Given the description of an element on the screen output the (x, y) to click on. 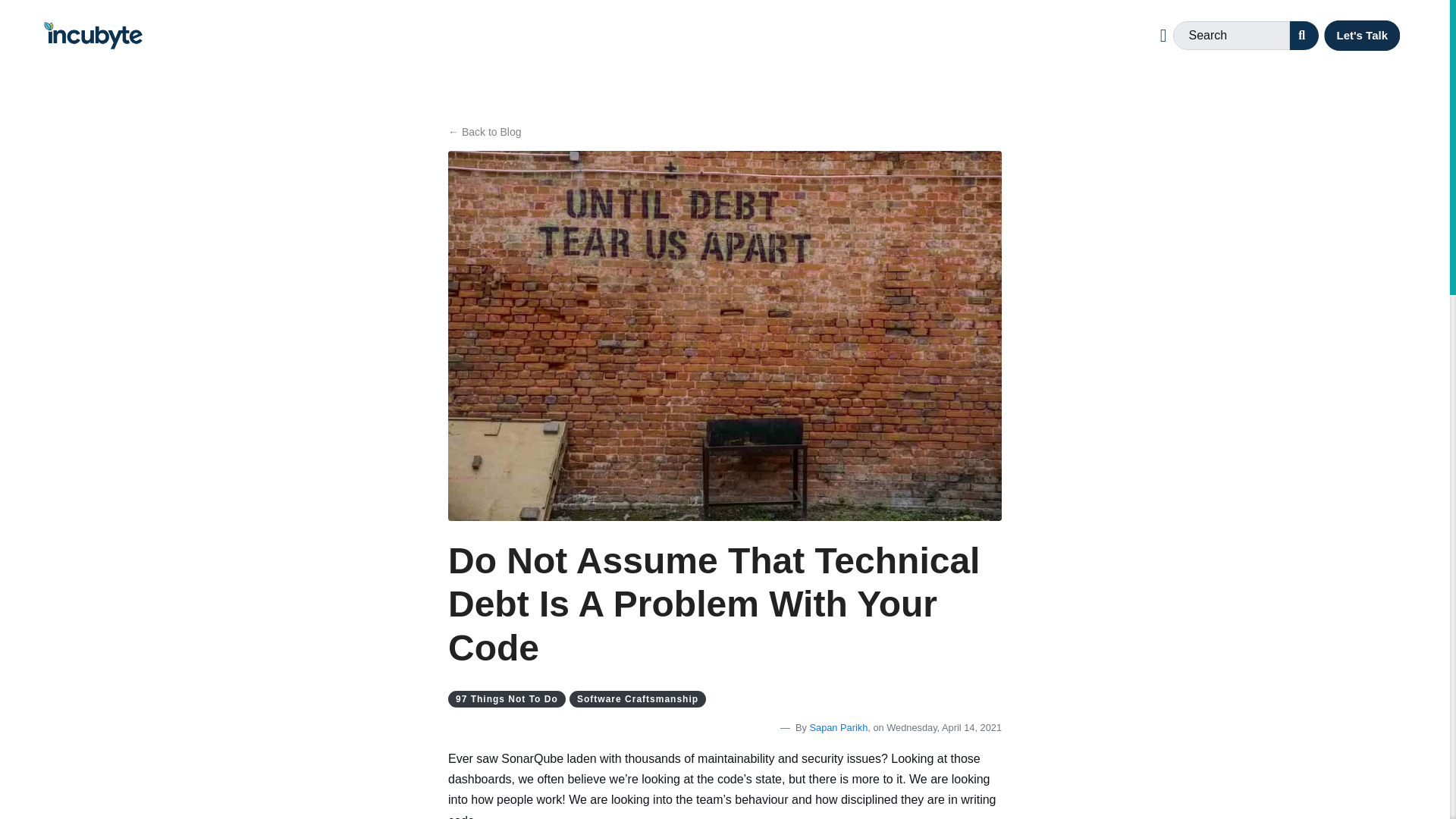
Sapan Parikh (838, 727)
Let's Talk (1361, 35)
Let'S Talk (1361, 35)
search (1304, 35)
97 Things Not To Do (506, 698)
Software Craftsmanship (637, 698)
